Given the description of an element on the screen output the (x, y) to click on. 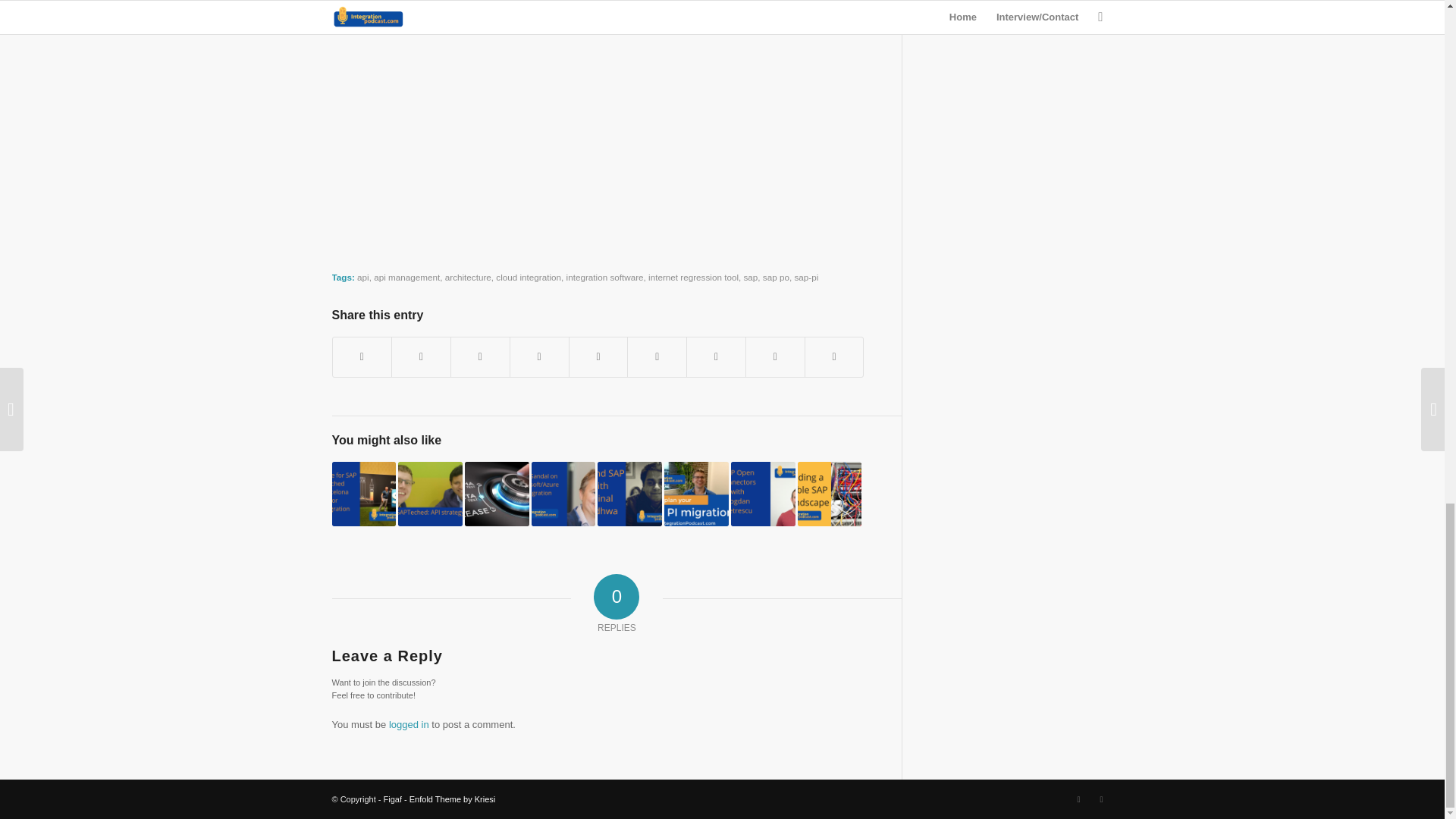
api management (406, 276)
sap-pi (805, 276)
integration software (604, 276)
sap po (775, 276)
api (362, 276)
022 - SAP Teched Barcelona prep for integration (363, 493)
internet regression tool (692, 276)
cloud integration (528, 276)
architecture (468, 276)
sap (749, 276)
